Given the description of an element on the screen output the (x, y) to click on. 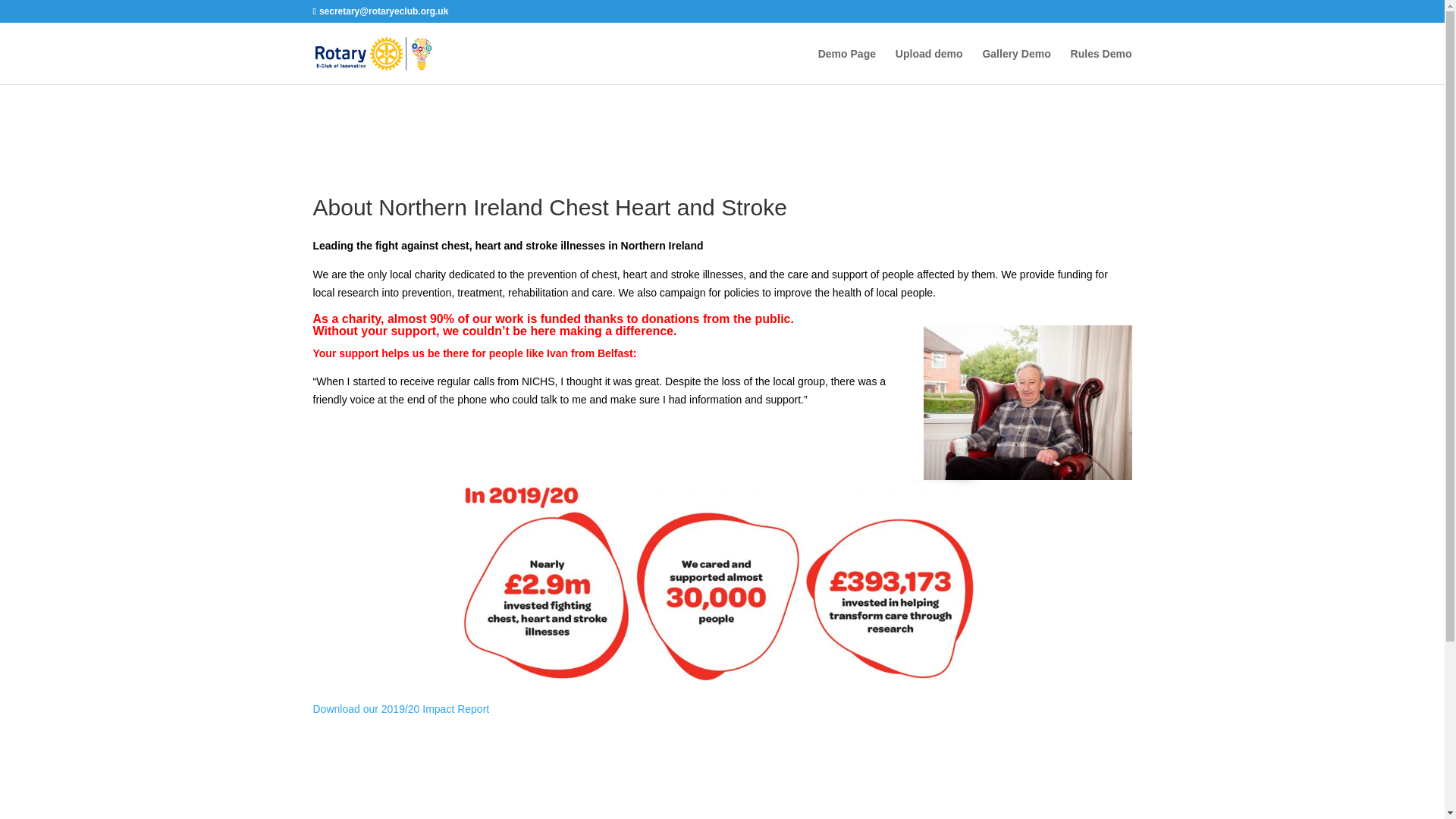
Demo Page (847, 66)
Rules Demo (1101, 66)
Gallery Demo (1015, 66)
Upload demo (928, 66)
